Given the description of an element on the screen output the (x, y) to click on. 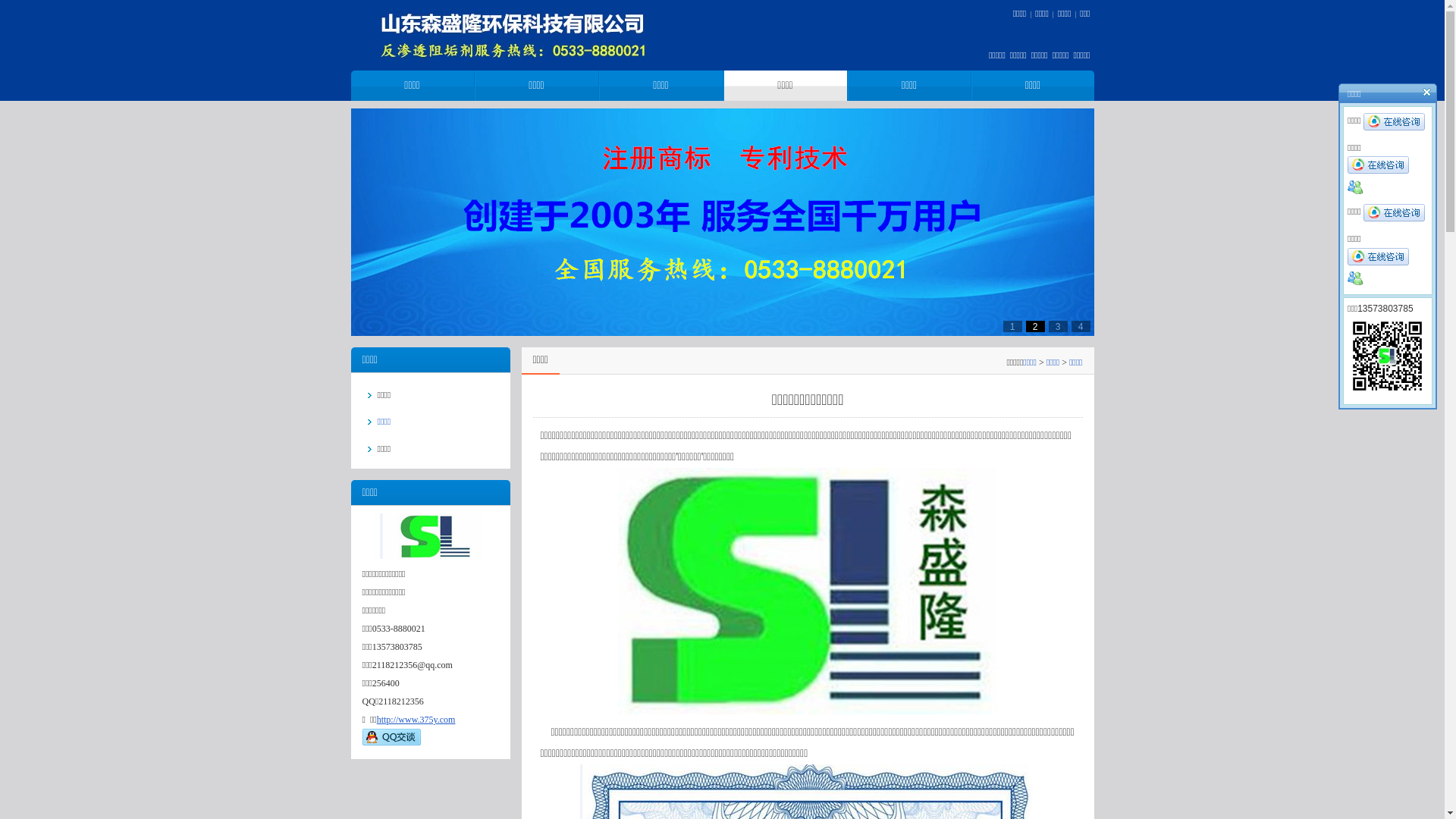
http://www.375y.com Element type: text (415, 719)
4 Element type: text (1079, 326)
1 Element type: text (1011, 326)
3 Element type: text (1057, 326)
2 Element type: text (1034, 326)
